Given the description of an element on the screen output the (x, y) to click on. 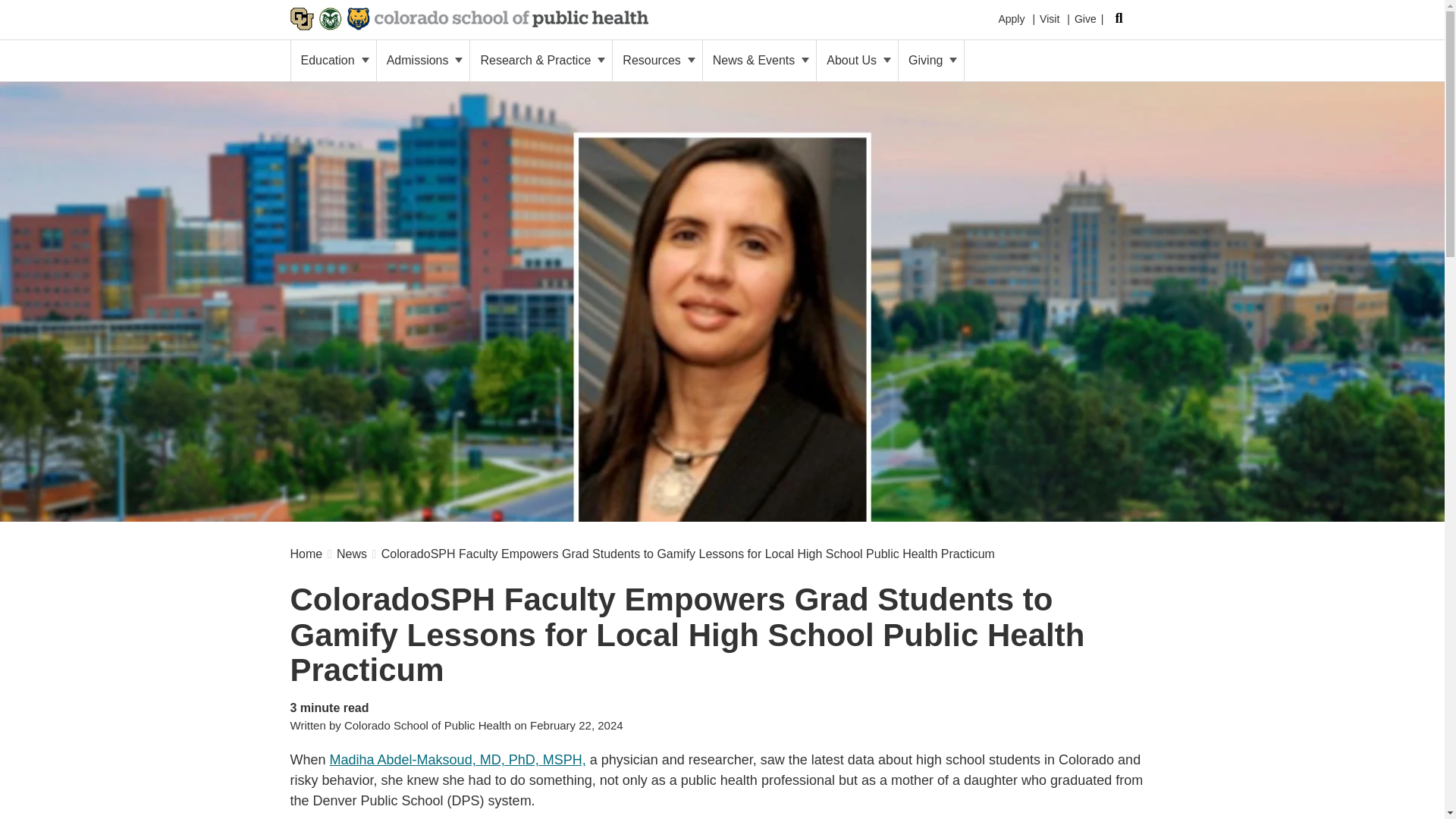
Give (1085, 16)
Admissions (423, 60)
Apply (1011, 15)
Visit (1049, 15)
Education (333, 60)
About Us (857, 60)
Resources (656, 60)
